Given the description of an element on the screen output the (x, y) to click on. 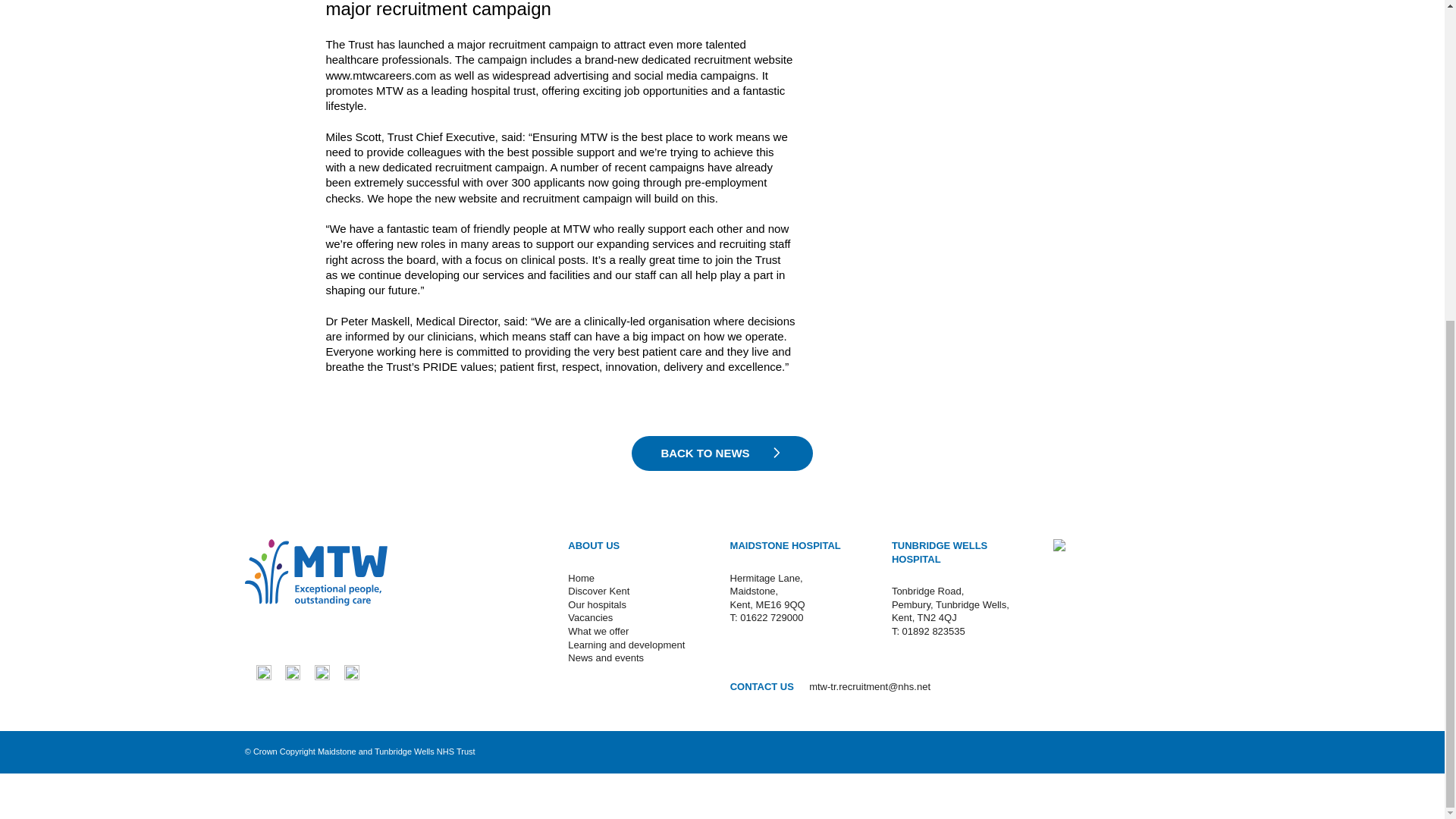
BACK TO NEWS (721, 452)
Learning and development (625, 644)
Vacancies (589, 617)
Our hospitals (596, 604)
Home (580, 577)
What we offer (597, 631)
News and events (605, 657)
Discover Kent (597, 591)
